Given the description of an element on the screen output the (x, y) to click on. 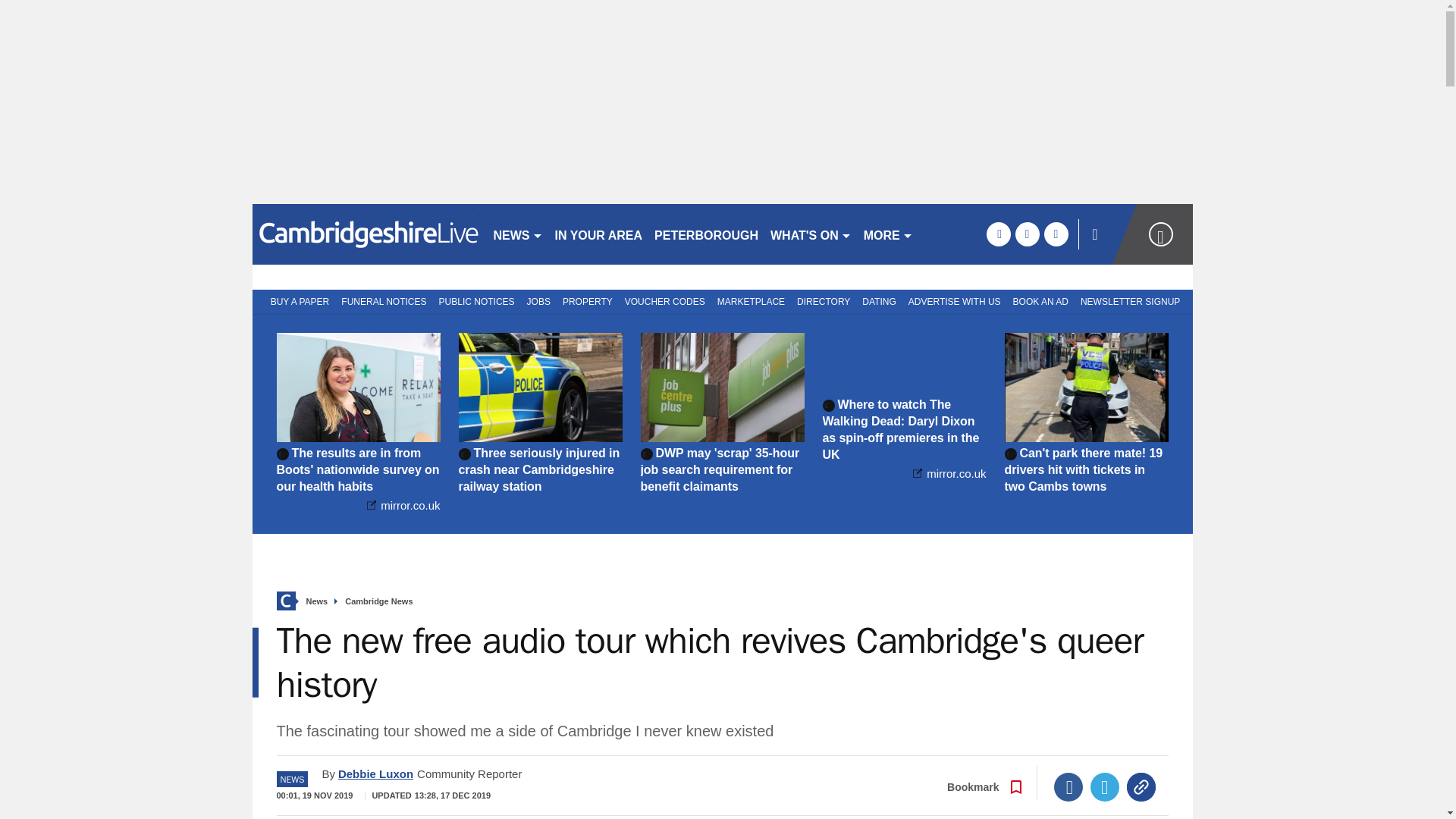
twitter (1026, 233)
NEWS (517, 233)
IN YOUR AREA (598, 233)
Twitter (1104, 787)
Facebook (1068, 787)
cambridgenews (365, 233)
facebook (997, 233)
PETERBOROUGH (705, 233)
WHAT'S ON (810, 233)
instagram (1055, 233)
MORE (887, 233)
